Given the description of an element on the screen output the (x, y) to click on. 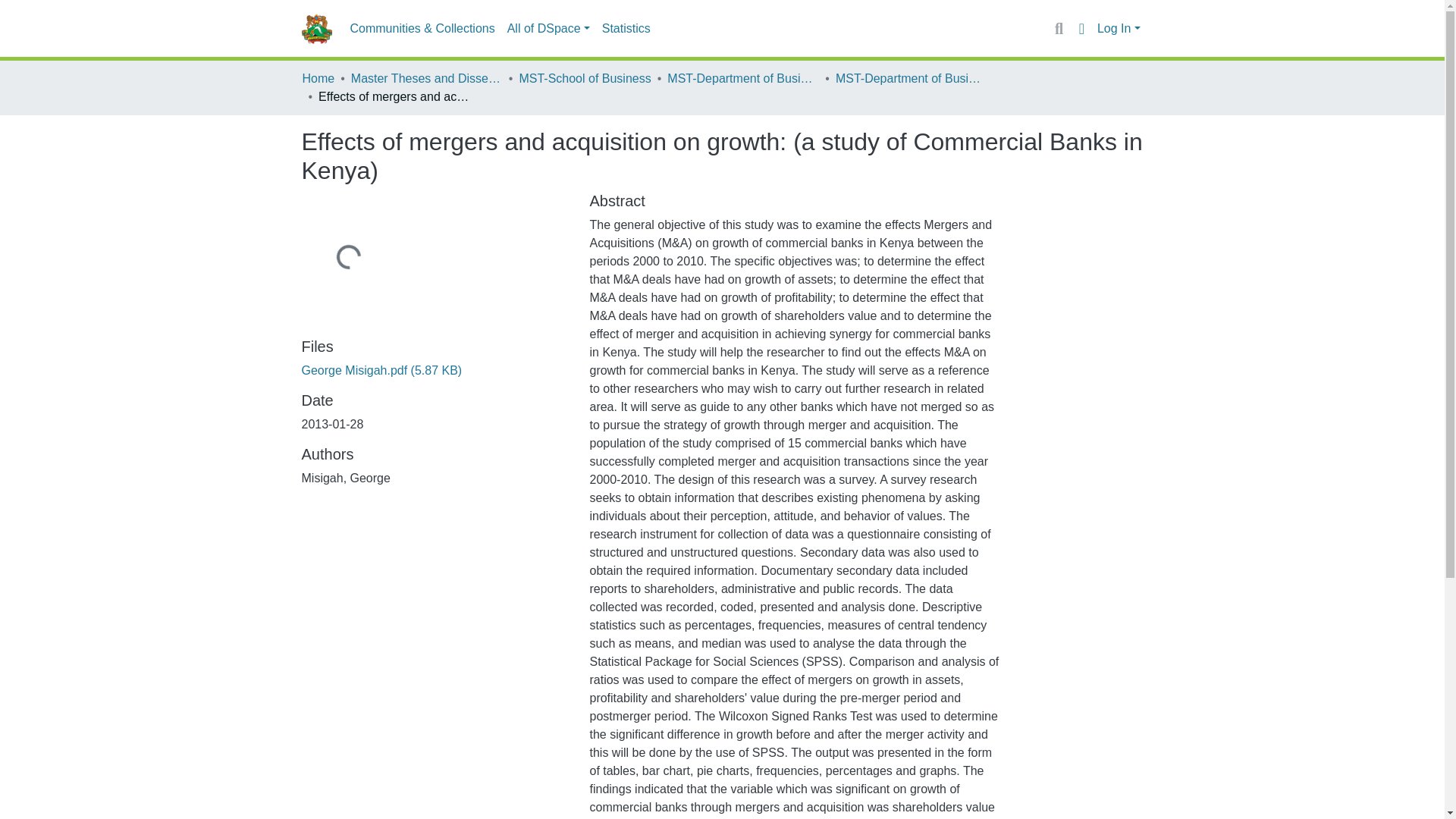
All of DSpace (547, 28)
MST-School of Business (584, 78)
Search (1058, 28)
Home (317, 78)
Language switch (1081, 28)
Statistics (625, 28)
MST-Department of Business Administration (911, 78)
MST-Department of Business Administration (742, 78)
Statistics (625, 28)
Log In (1118, 28)
